Given the description of an element on the screen output the (x, y) to click on. 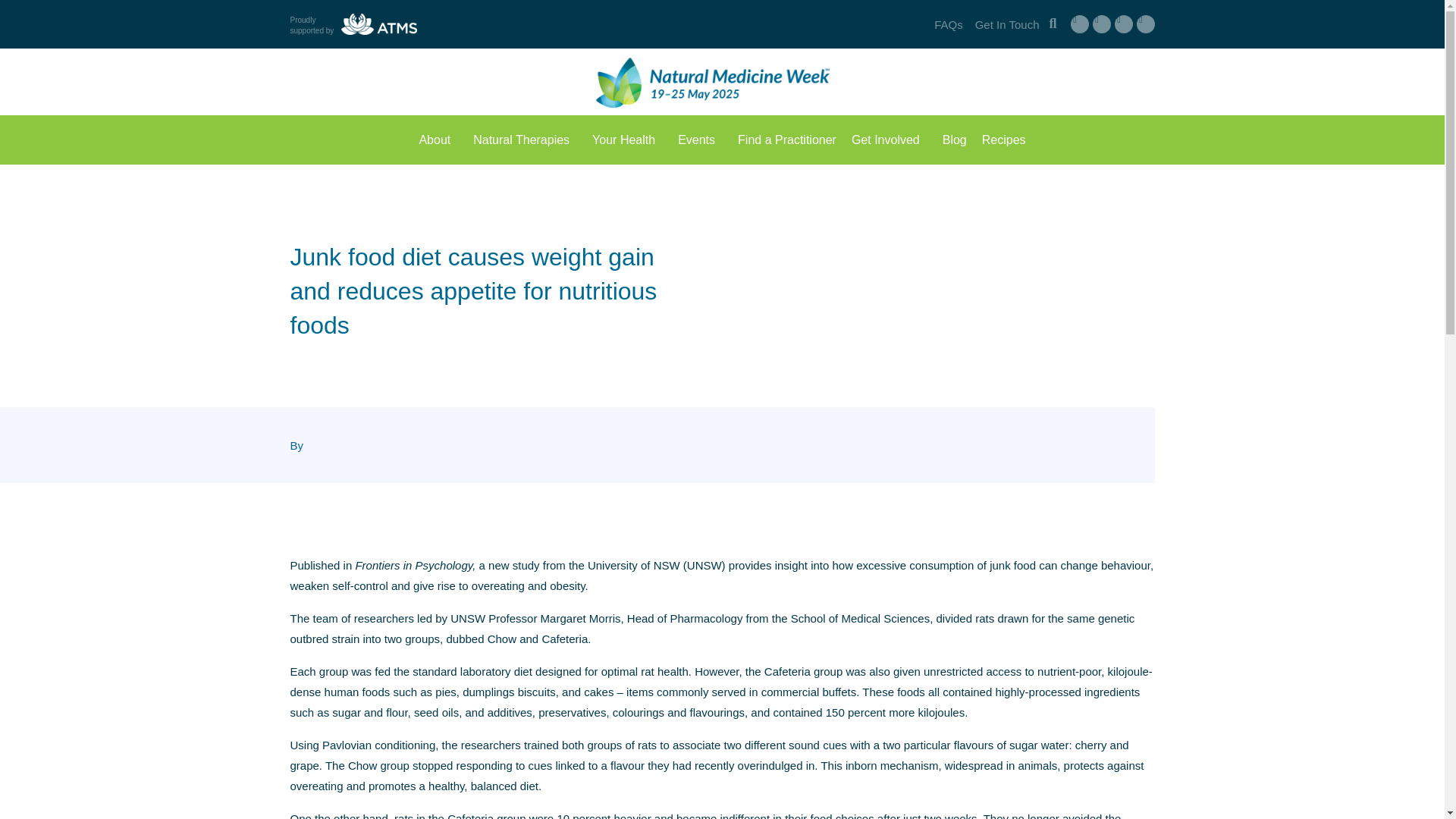
FAQs (948, 23)
About (437, 139)
Natural Therapies (525, 139)
Get In Touch (1007, 23)
